Given the description of an element on the screen output the (x, y) to click on. 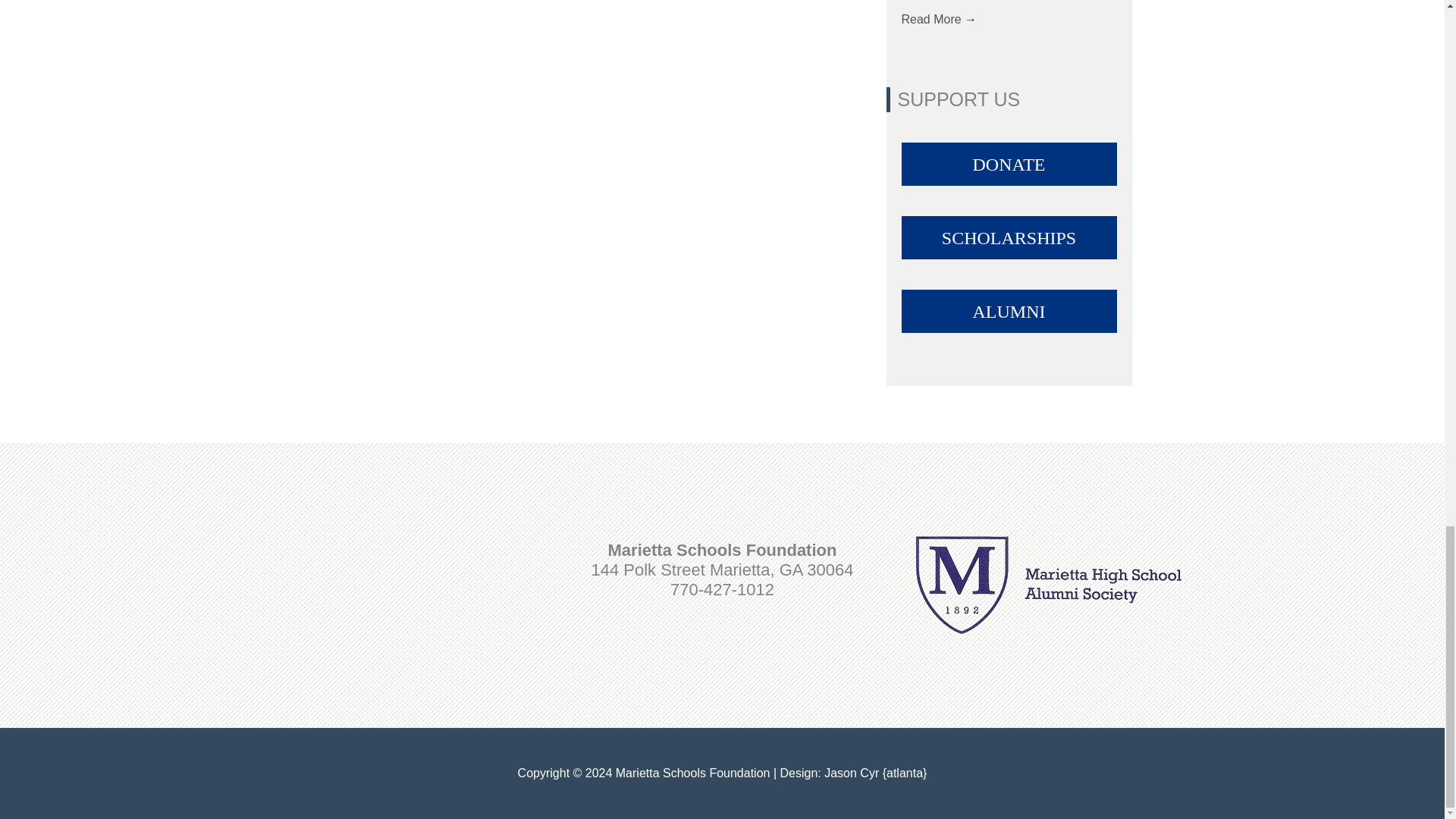
Click Here (1008, 237)
Read More (938, 19)
Click Here (1008, 310)
Click Here (1008, 163)
